Given the description of an element on the screen output the (x, y) to click on. 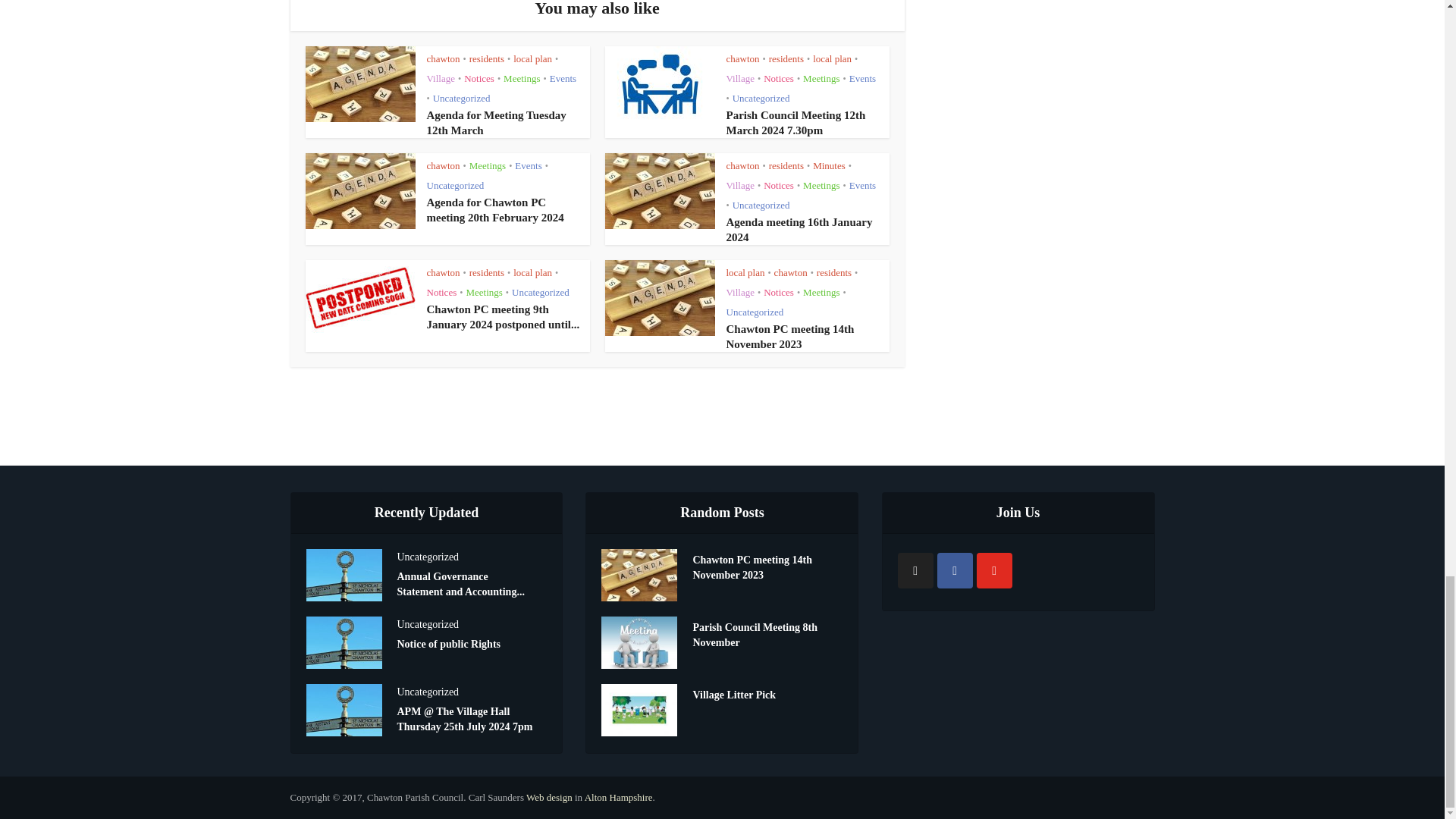
Chawton PC meeting 14th November 2023 (790, 336)
Parish Council Meeting 12th March 2024 7.30pm (796, 122)
Agenda meeting 16th January 2024 (799, 229)
Agenda for Chawton PC meeting 20th February 2024 (494, 209)
Notices (479, 78)
residents (785, 58)
Village (440, 78)
chawton (743, 58)
Agenda for Meeting Tuesday 12th March (496, 122)
chawton (443, 58)
